Given the description of an element on the screen output the (x, y) to click on. 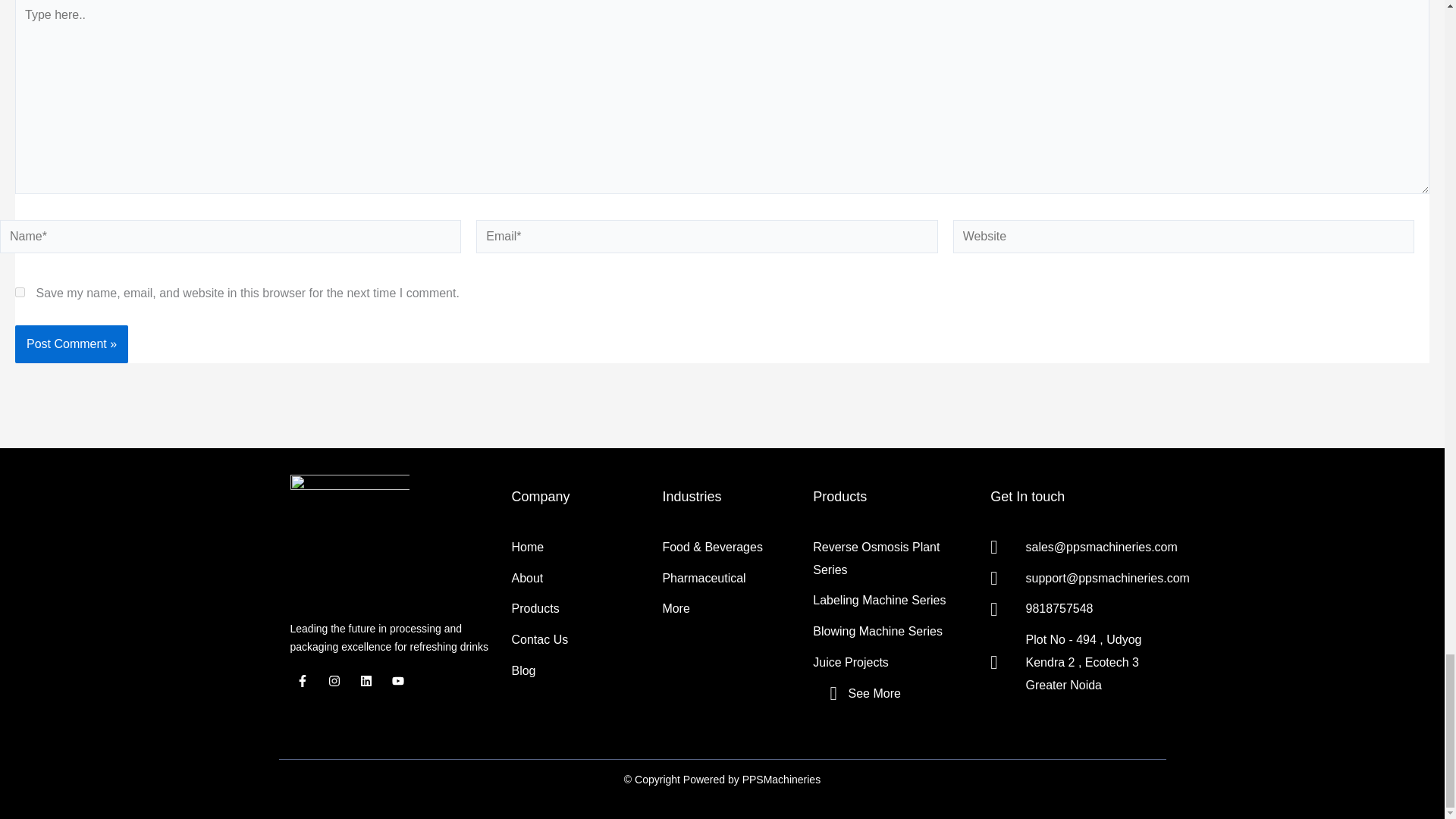
yes (19, 292)
